Given the description of an element on the screen output the (x, y) to click on. 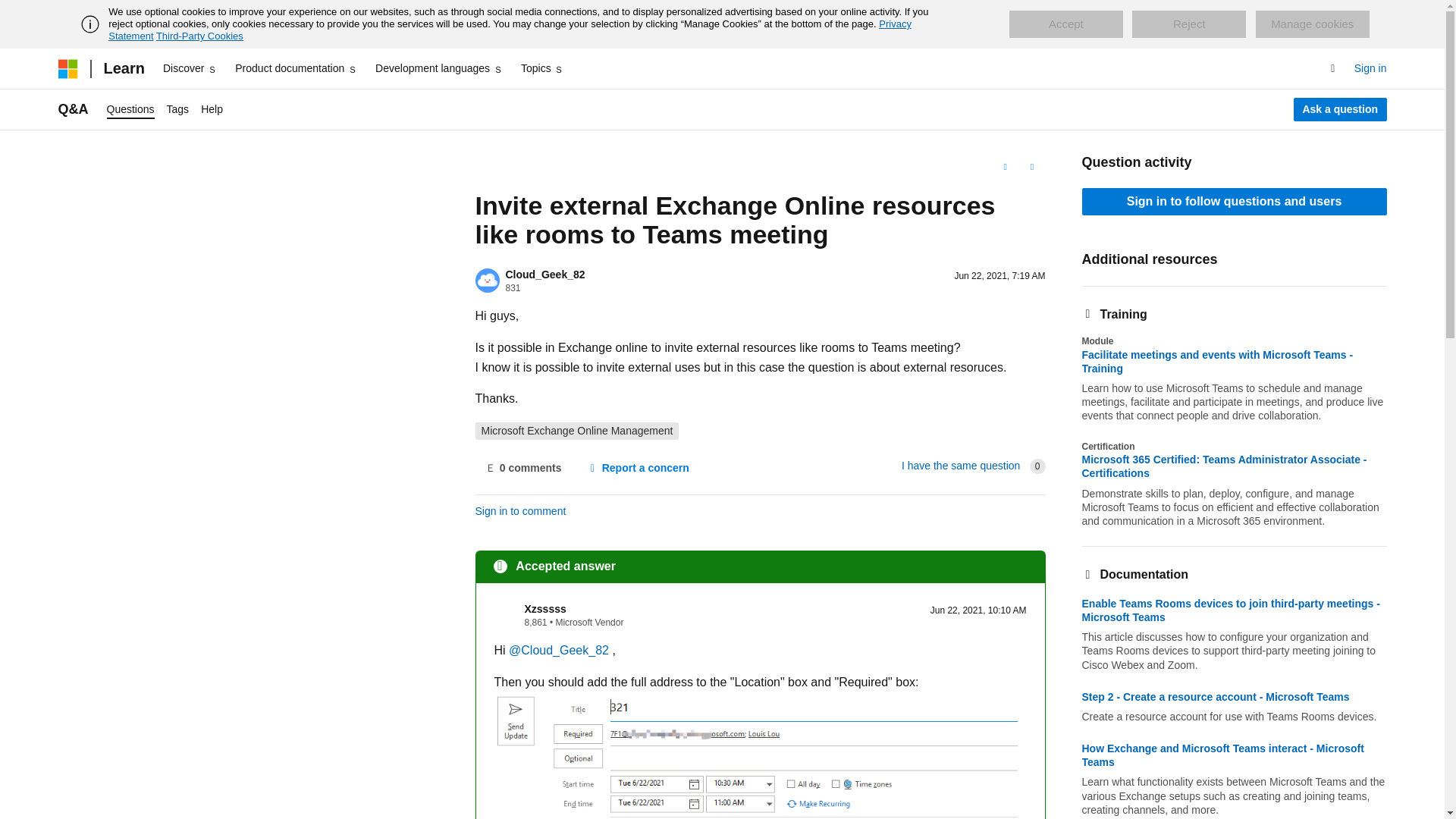
No comments (522, 468)
Sign in (1370, 68)
Skip to main content (11, 11)
Questions (130, 109)
Learn (123, 68)
Discover (189, 68)
Reputation points (512, 287)
Accept (1065, 23)
Ask a question (1340, 109)
Manage cookies (1312, 23)
